Given the description of an element on the screen output the (x, y) to click on. 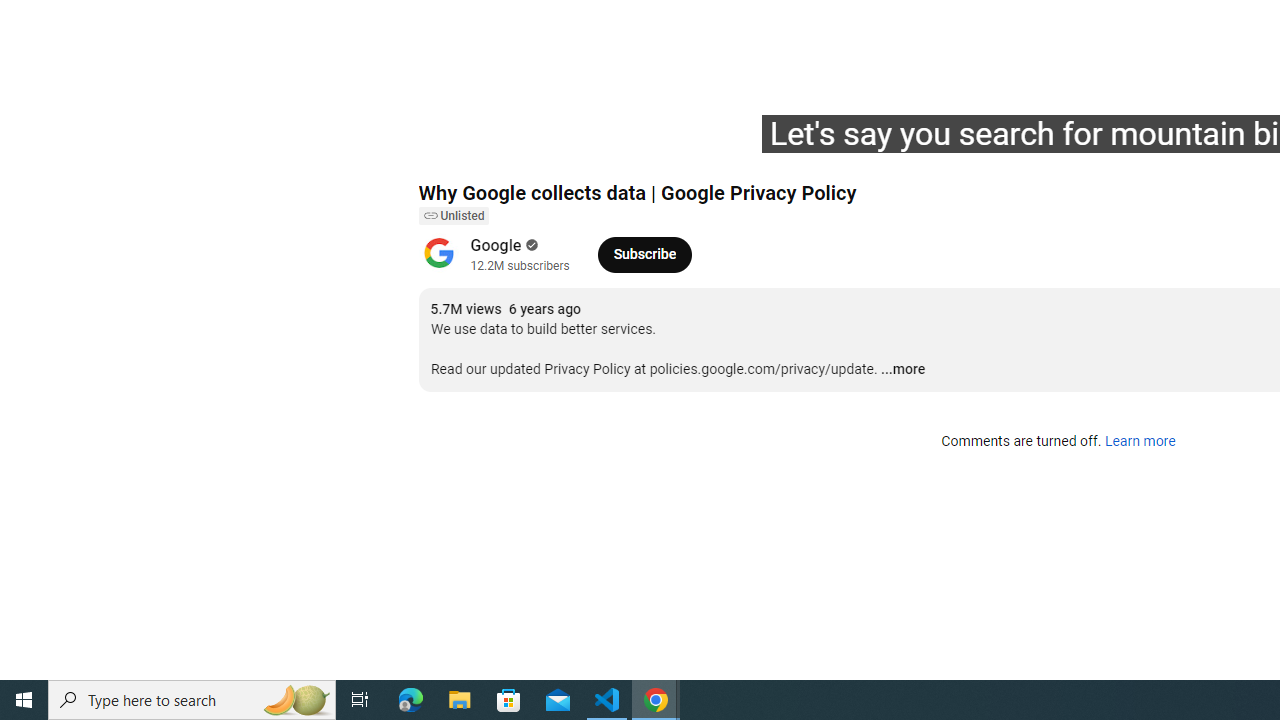
Unlisted (453, 216)
Mute (m) (548, 142)
Pause (k) (453, 142)
Learn more (1139, 442)
Subscribe to Google. (644, 254)
Next (SHIFT+n) (500, 142)
...more (902, 370)
